Given the description of an element on the screen output the (x, y) to click on. 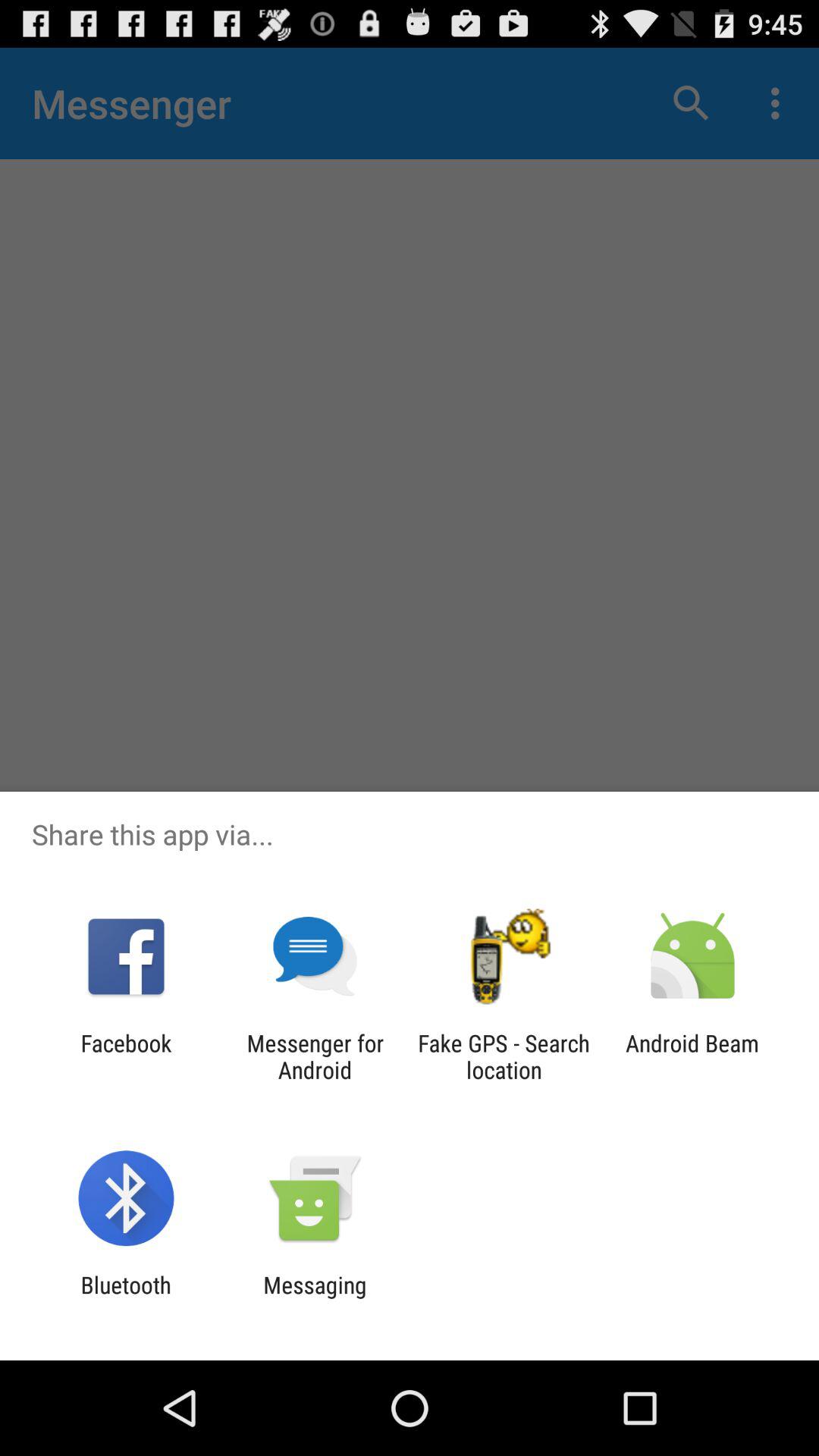
open the bluetooth (125, 1298)
